Given the description of an element on the screen output the (x, y) to click on. 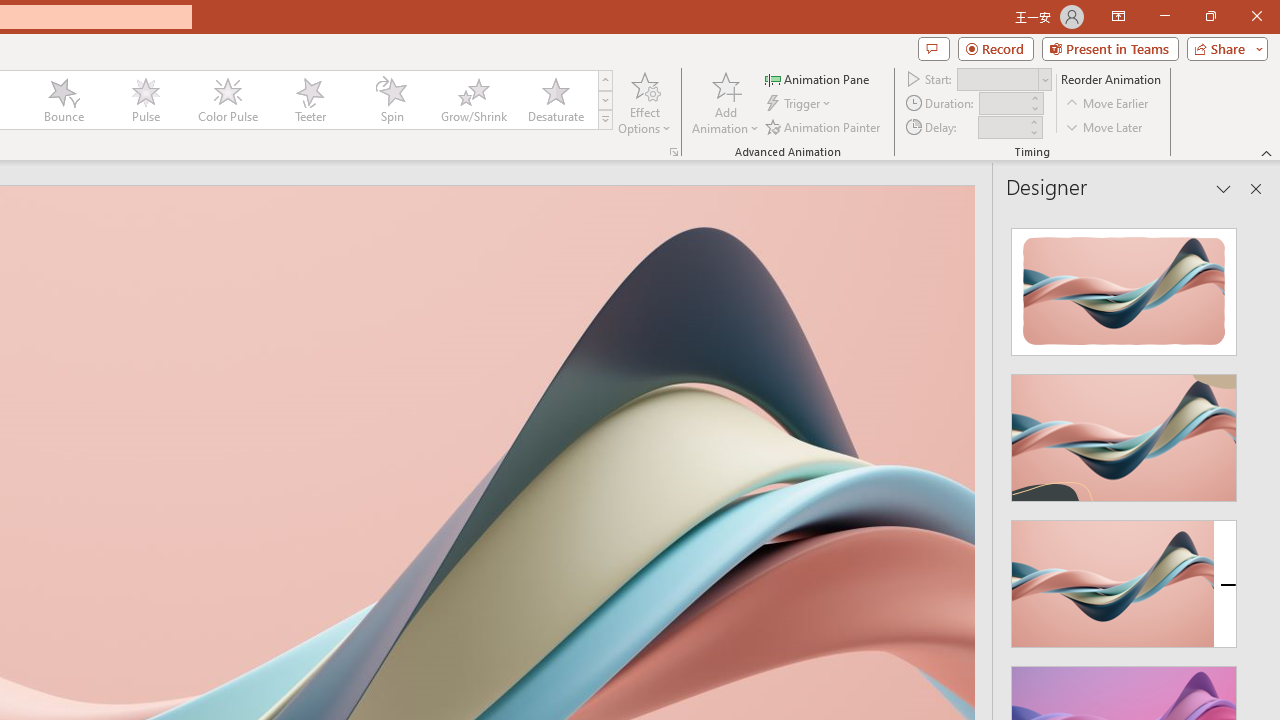
Spin (391, 100)
Pulse (145, 100)
Animation Painter (824, 126)
Effect Options (644, 102)
Animation Delay (1002, 127)
Animation Pane (818, 78)
Bounce (63, 100)
Move Later (1105, 126)
